Given the description of an element on the screen output the (x, y) to click on. 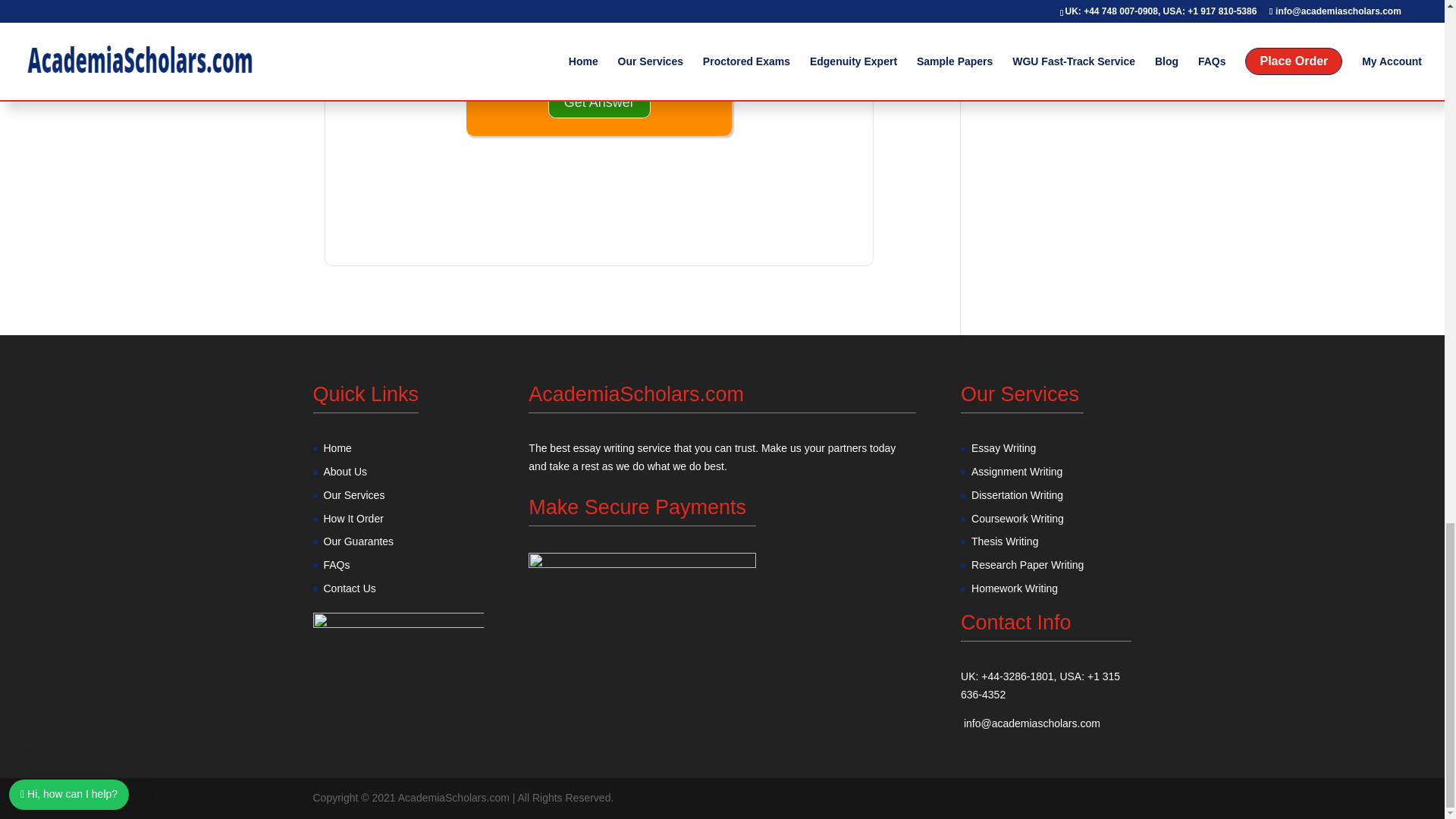
Contact Us (349, 588)
Our Services (353, 494)
Home (336, 448)
FAQs (336, 564)
Research Paper Writing (1027, 564)
Assignment Writing (1016, 471)
Dissertation Writing Services (1016, 494)
Dissertation Writing (1016, 494)
Homework Writing (1014, 588)
How It Order (352, 518)
